Given the description of an element on the screen output the (x, y) to click on. 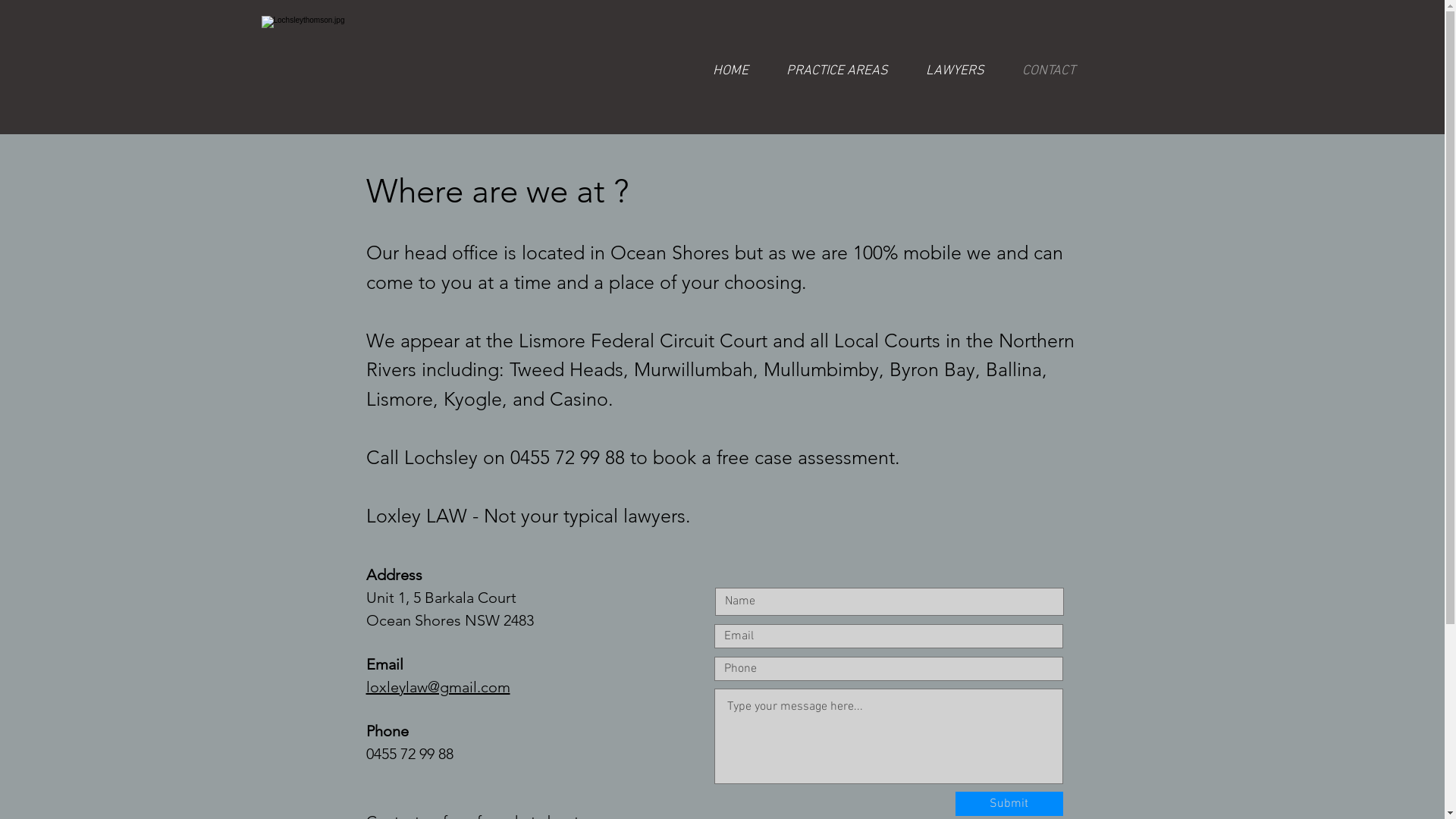
CONTACT Element type: text (1047, 70)
LAWYERS Element type: text (954, 70)
PRACTICE AREAS Element type: text (836, 70)
Submit Element type: text (1009, 803)
HOME Element type: text (729, 70)
0455 72 99 88 Element type: text (408, 753)
loxleylaw@gmail.com Element type: text (437, 686)
